Given the description of an element on the screen output the (x, y) to click on. 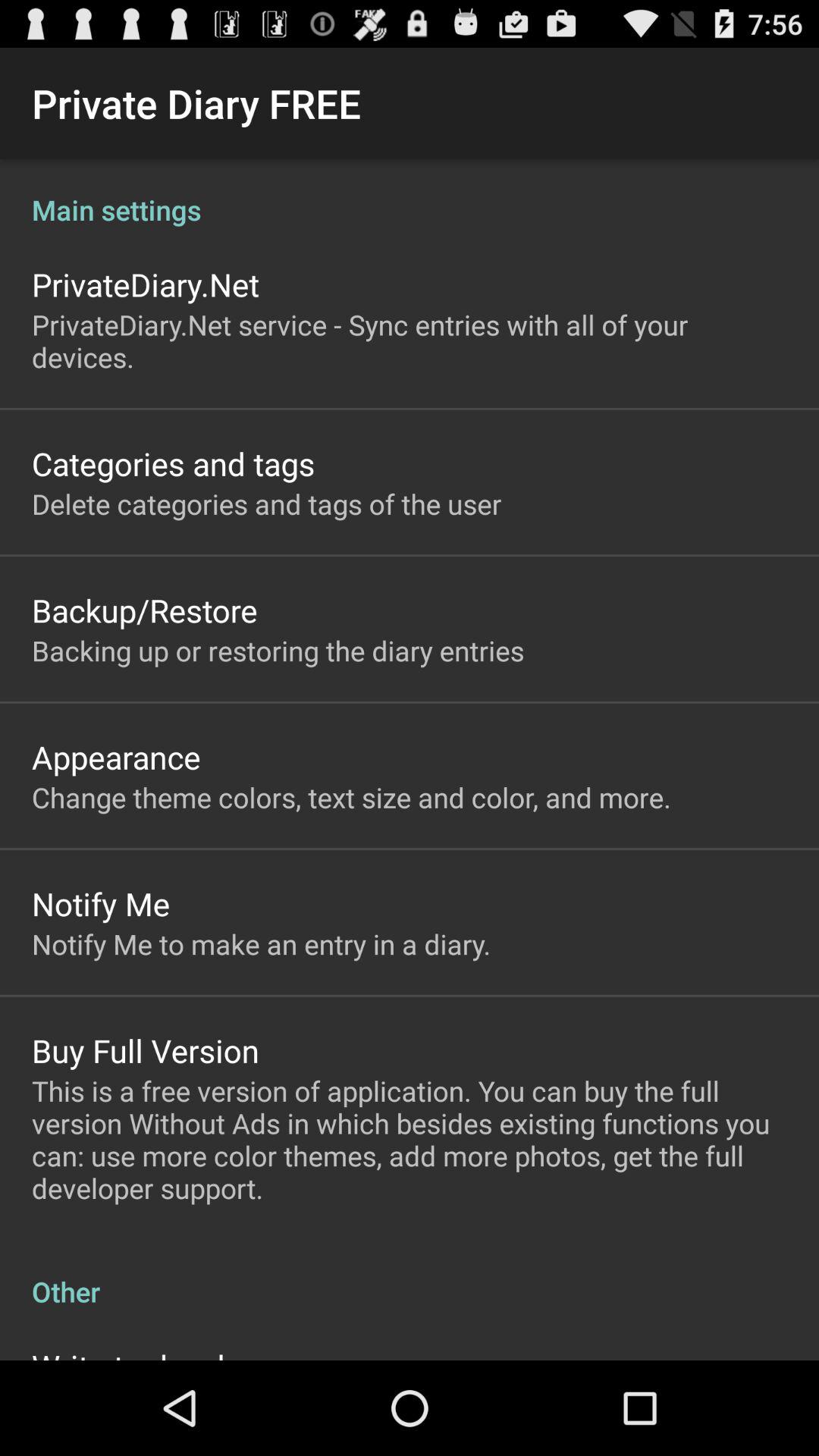
turn on the app below backing up or icon (115, 756)
